Given the description of an element on the screen output the (x, y) to click on. 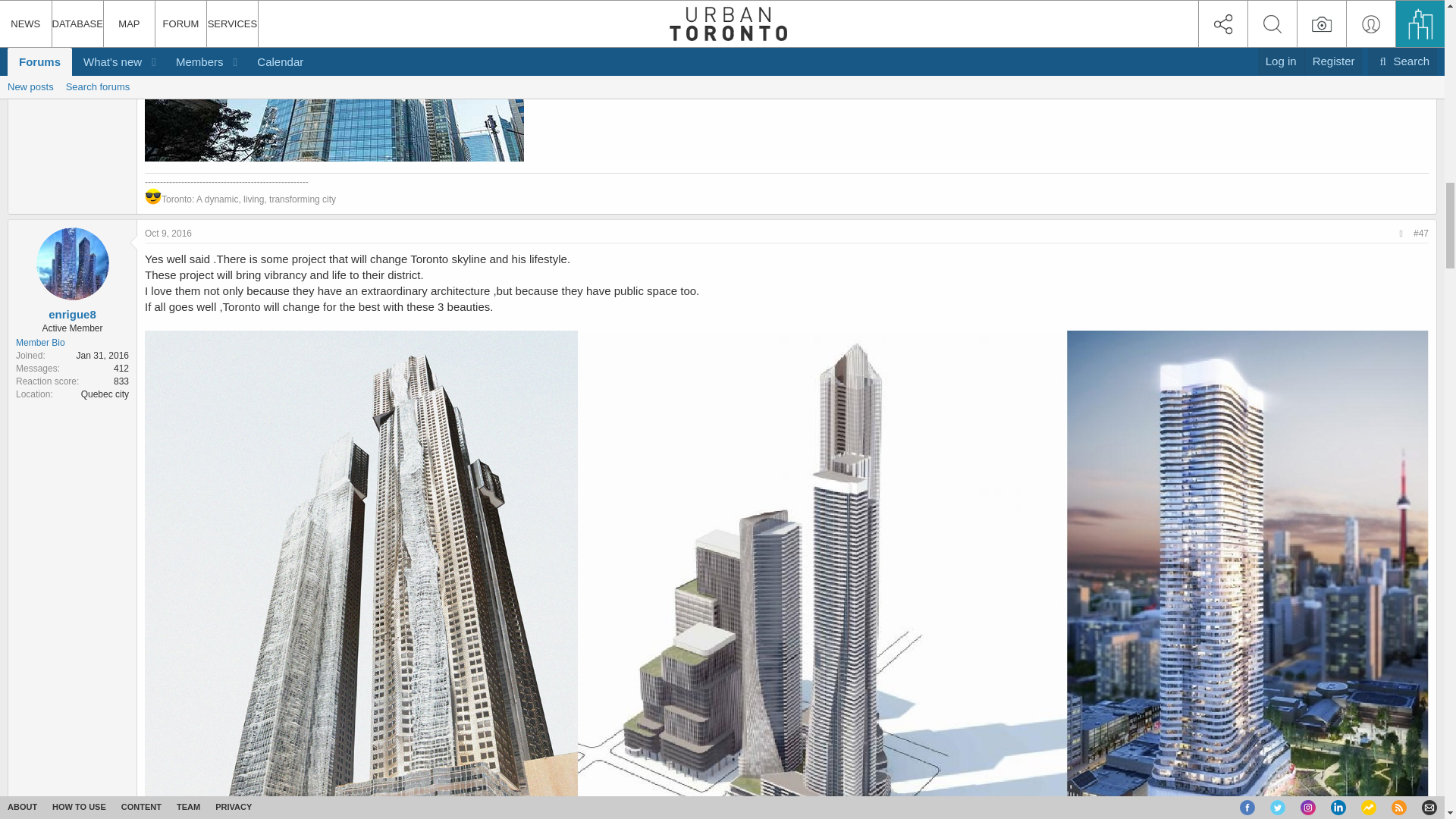
Oct 9, 2016 at 1:18 PM (168, 233)
shangri-la-jpg.88457 (334, 82)
Cool    :cool: (152, 196)
